Given the description of an element on the screen output the (x, y) to click on. 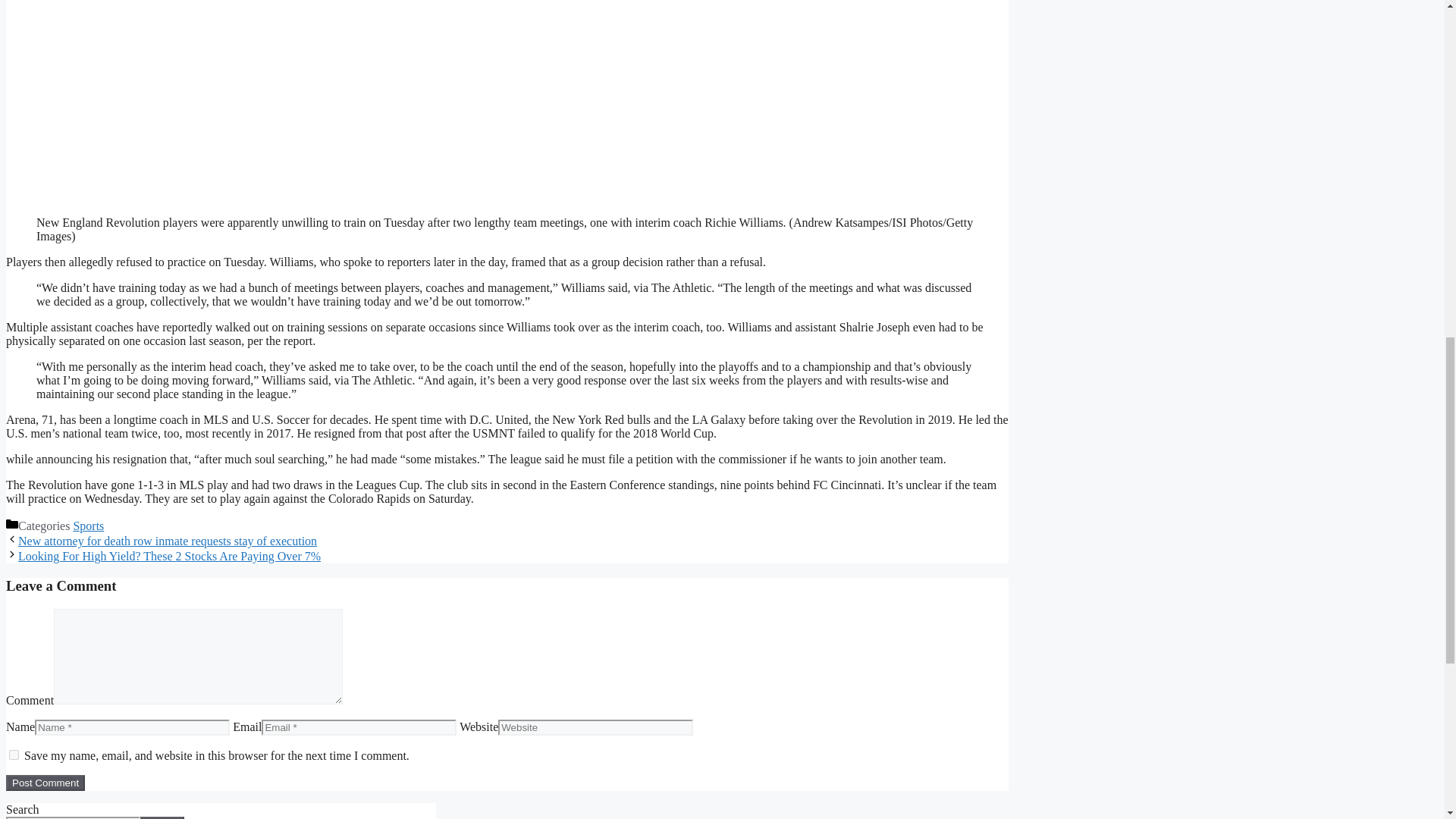
yes (13, 755)
Search (161, 817)
New attorney for death row inmate requests stay of execution (167, 540)
Post Comment (44, 782)
Scroll back to top (1406, 720)
Post Comment (44, 782)
Sports (87, 525)
